Given the description of an element on the screen output the (x, y) to click on. 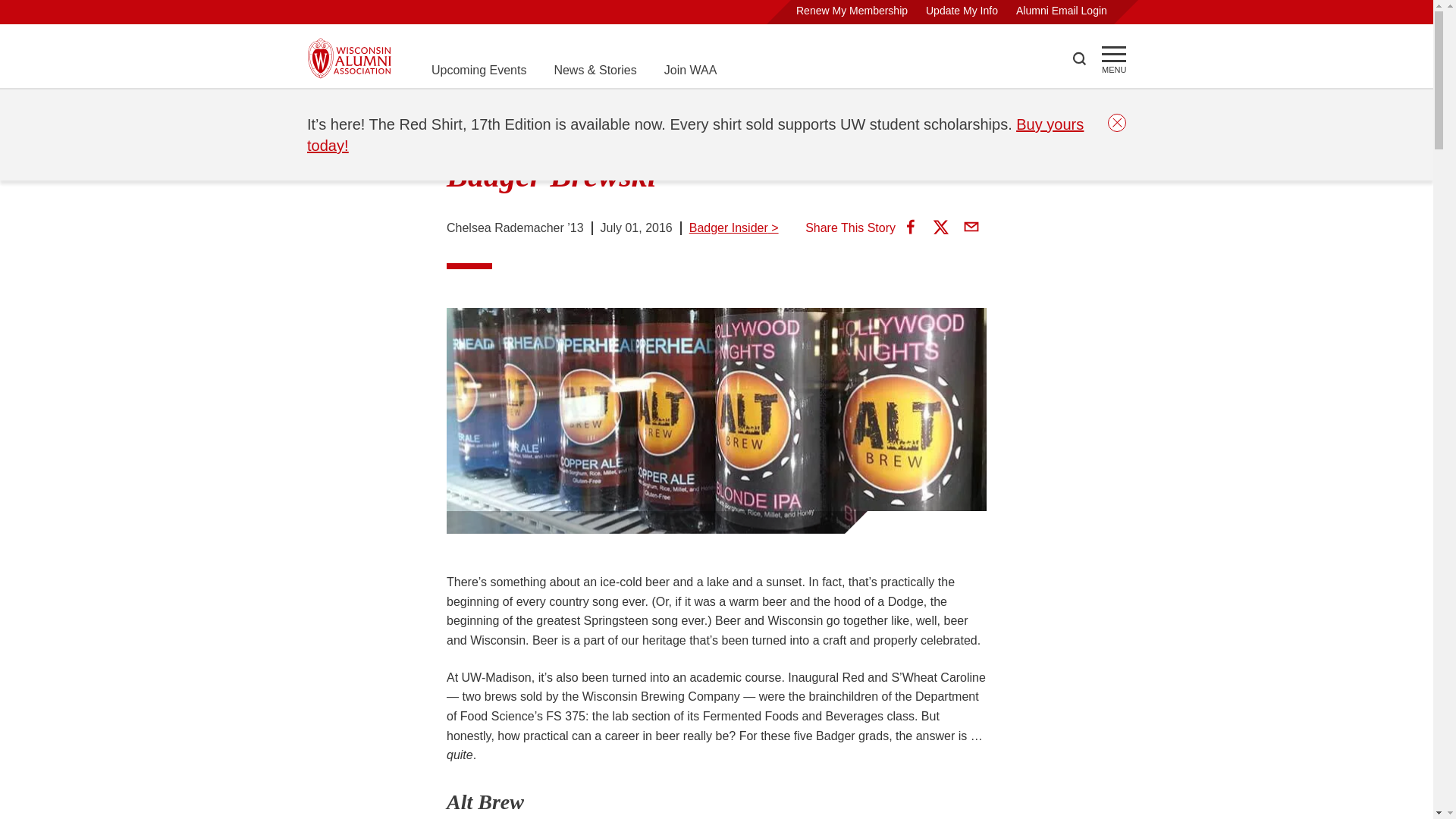
Update My Info (961, 10)
Home (322, 107)
Alumni Email Login (1061, 10)
Upcoming Events (477, 70)
Badger Insider (468, 107)
Renew My Membership (851, 10)
Join WAA (690, 70)
